Given the description of an element on the screen output the (x, y) to click on. 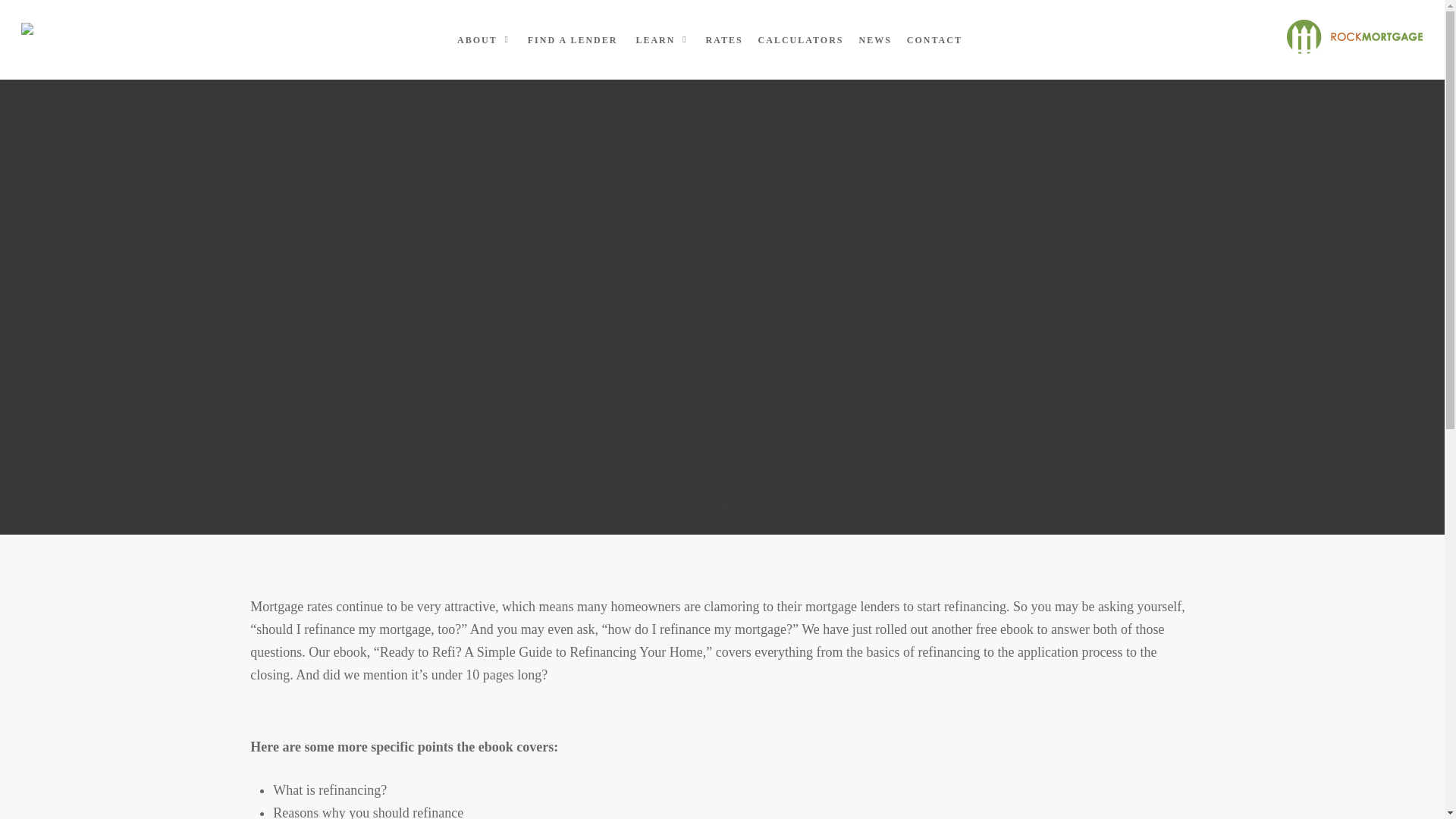
FIND A LENDER (572, 40)
LEARN (660, 39)
NEWS (874, 40)
ABOUT (482, 39)
CONTACT (934, 40)
RATES (723, 40)
CALCULATORS (801, 40)
